Given the description of an element on the screen output the (x, y) to click on. 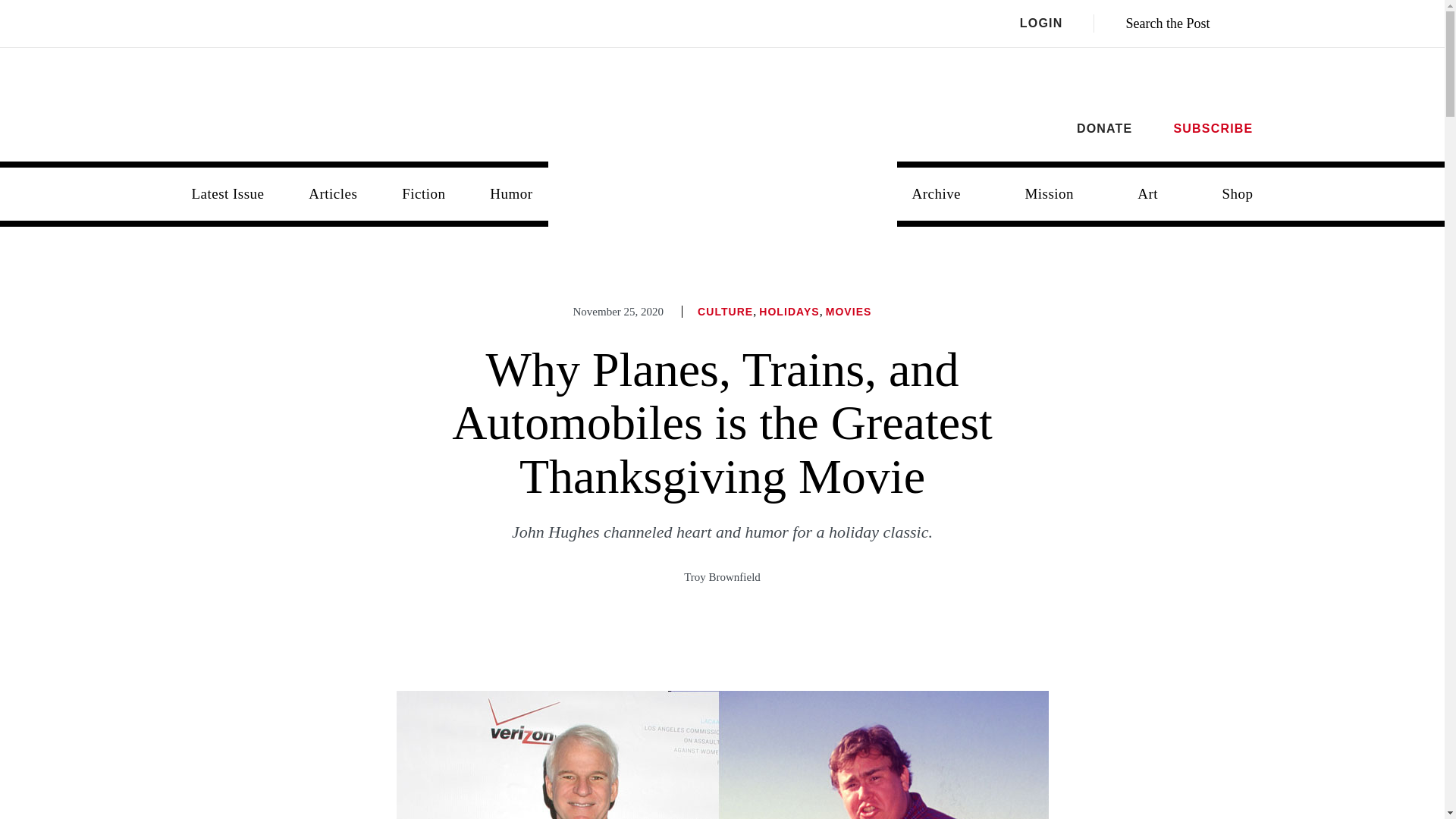
SUBSCRIBE (1212, 128)
Articles (333, 193)
MOVIES (848, 311)
LOGIN (1057, 23)
Posts by Troy Brownfield (722, 576)
CULTURE (724, 311)
The Saturday Evening Post (722, 181)
Latest Issue (227, 193)
HOLIDAYS (788, 311)
Humor (510, 193)
